Given the description of an element on the screen output the (x, y) to click on. 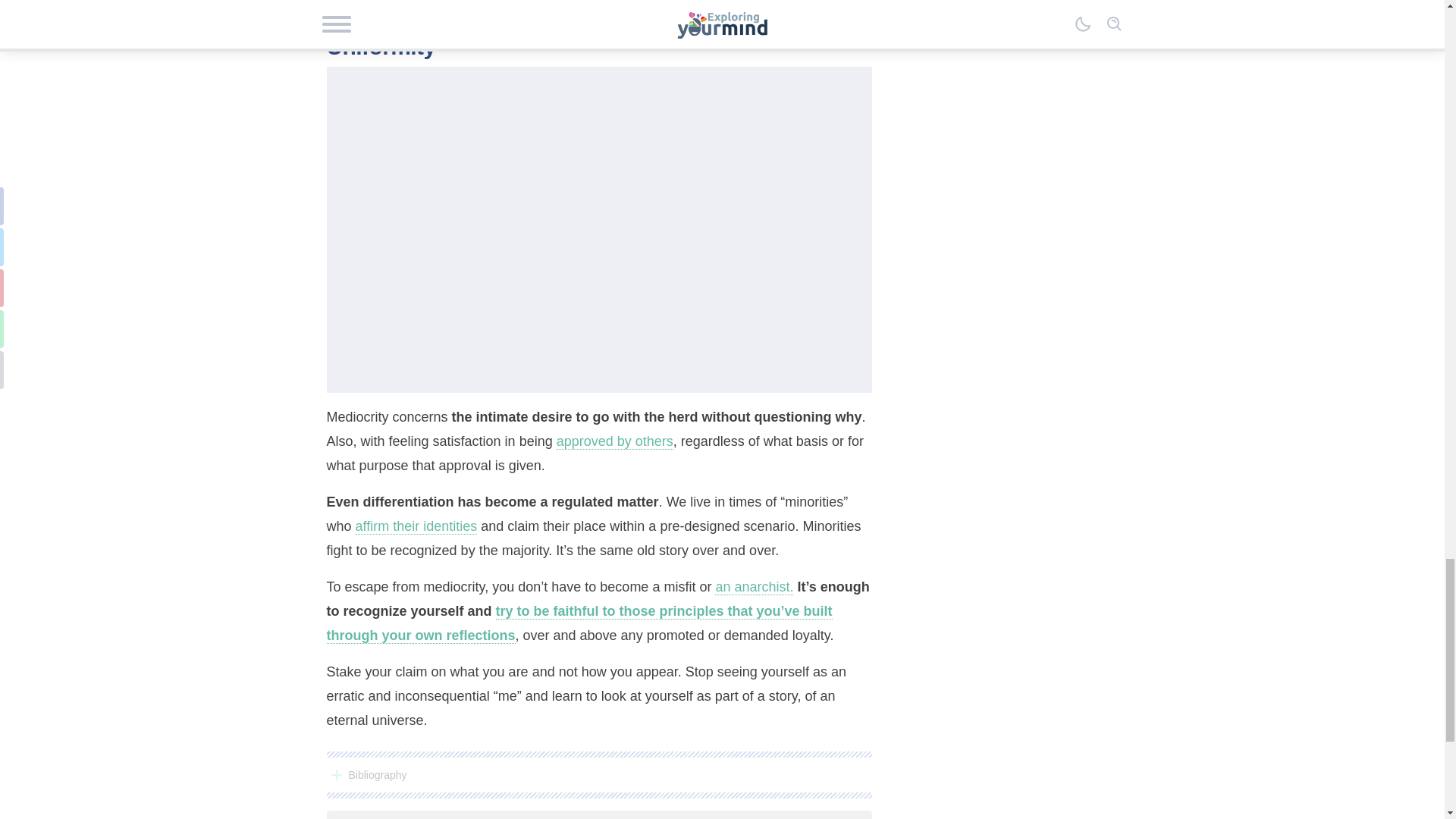
an anarchist. (753, 587)
Bibliography (598, 774)
affirm their identities (416, 526)
approved by others (614, 441)
